Given the description of an element on the screen output the (x, y) to click on. 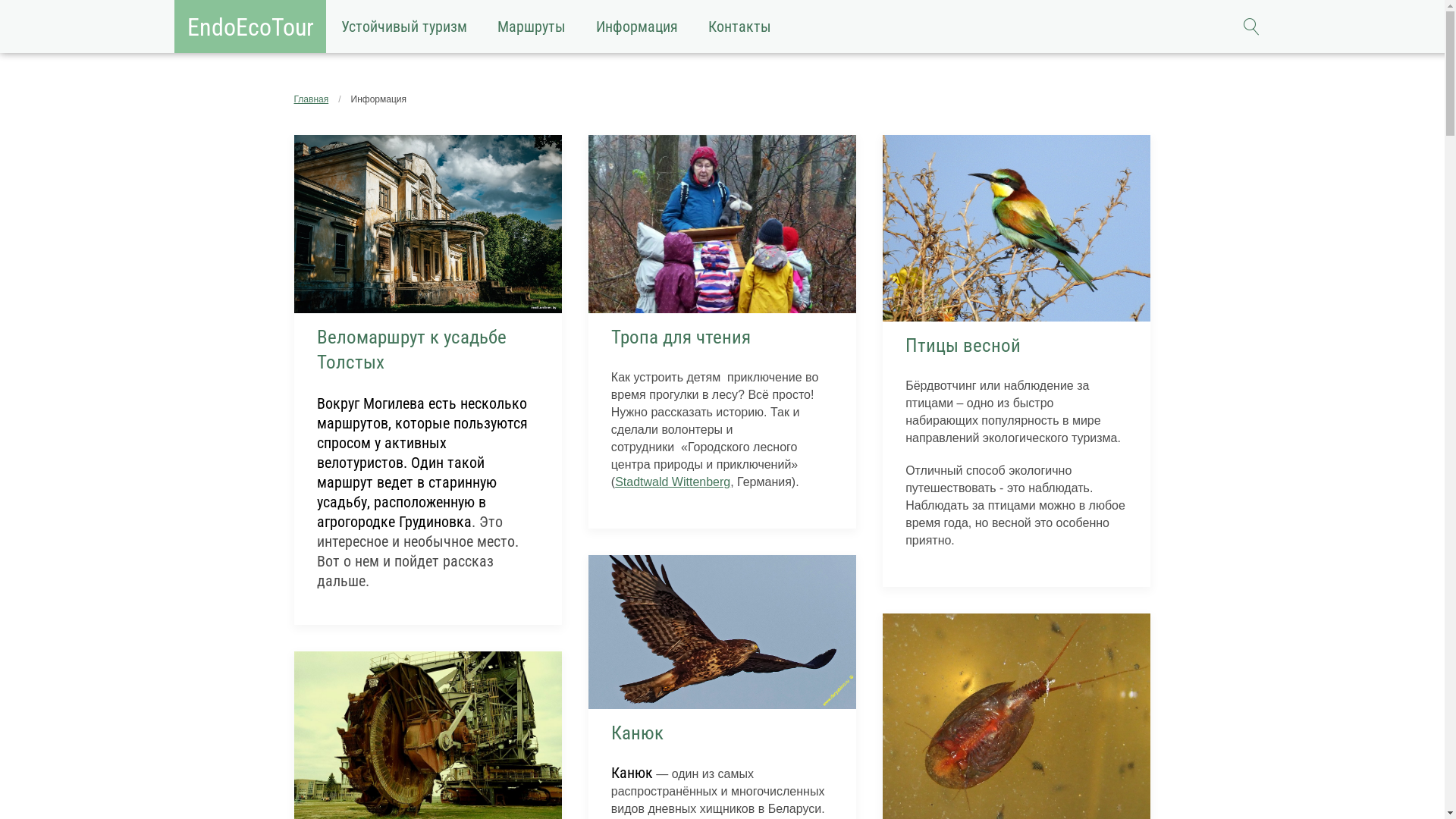
Stadtwald Wittenberg Element type: text (672, 481)
EndoEcoTour Element type: text (250, 26)
